Given the description of an element on the screen output the (x, y) to click on. 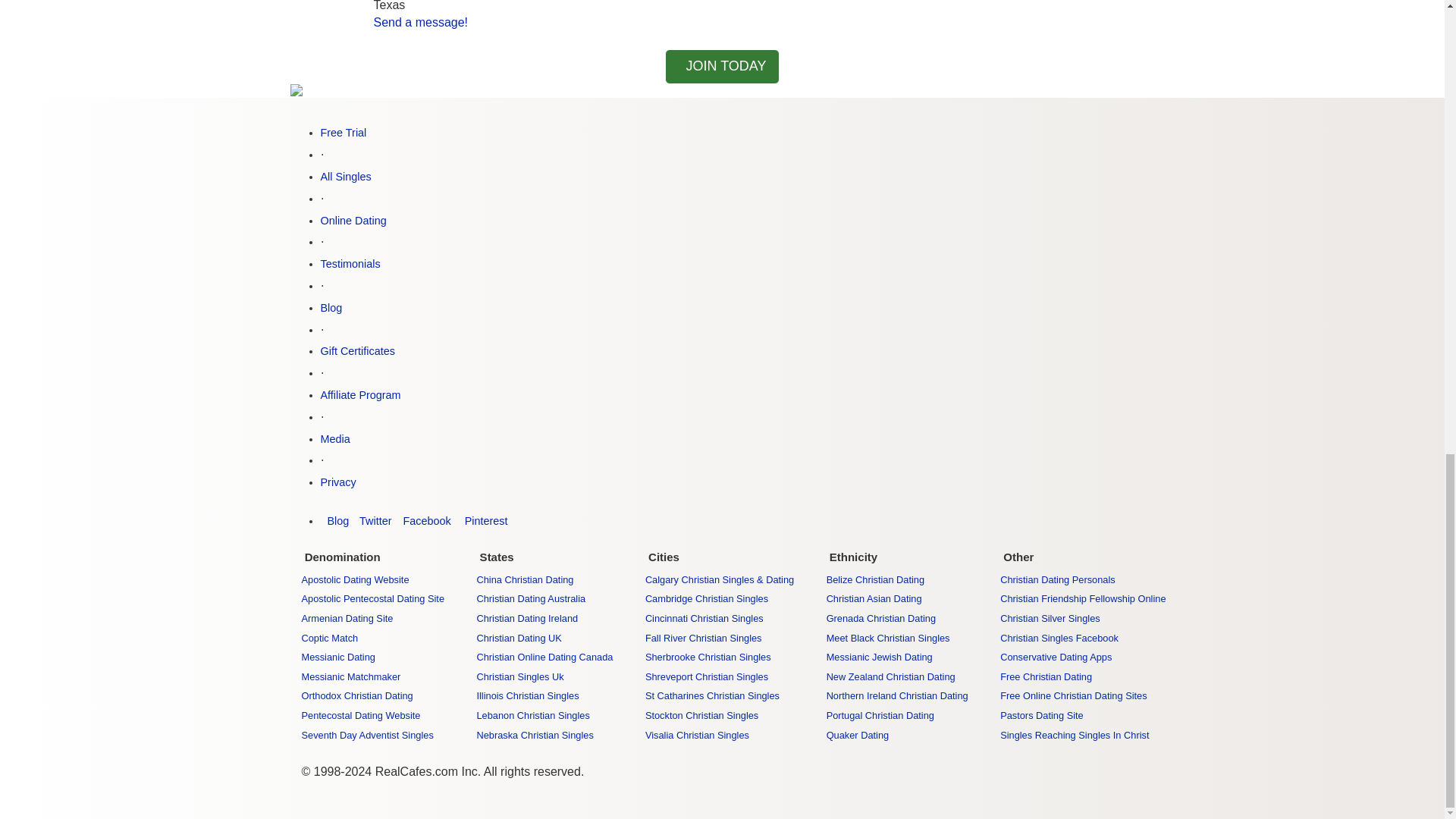
Testimonials (350, 263)
All Singles (345, 176)
Blog (334, 521)
 JOIN TODAY (721, 66)
Online Dating (352, 220)
Blog (331, 307)
Pinterest (483, 521)
Free Trial (343, 132)
Send a message! (419, 21)
Twitter (373, 521)
